Given the description of an element on the screen output the (x, y) to click on. 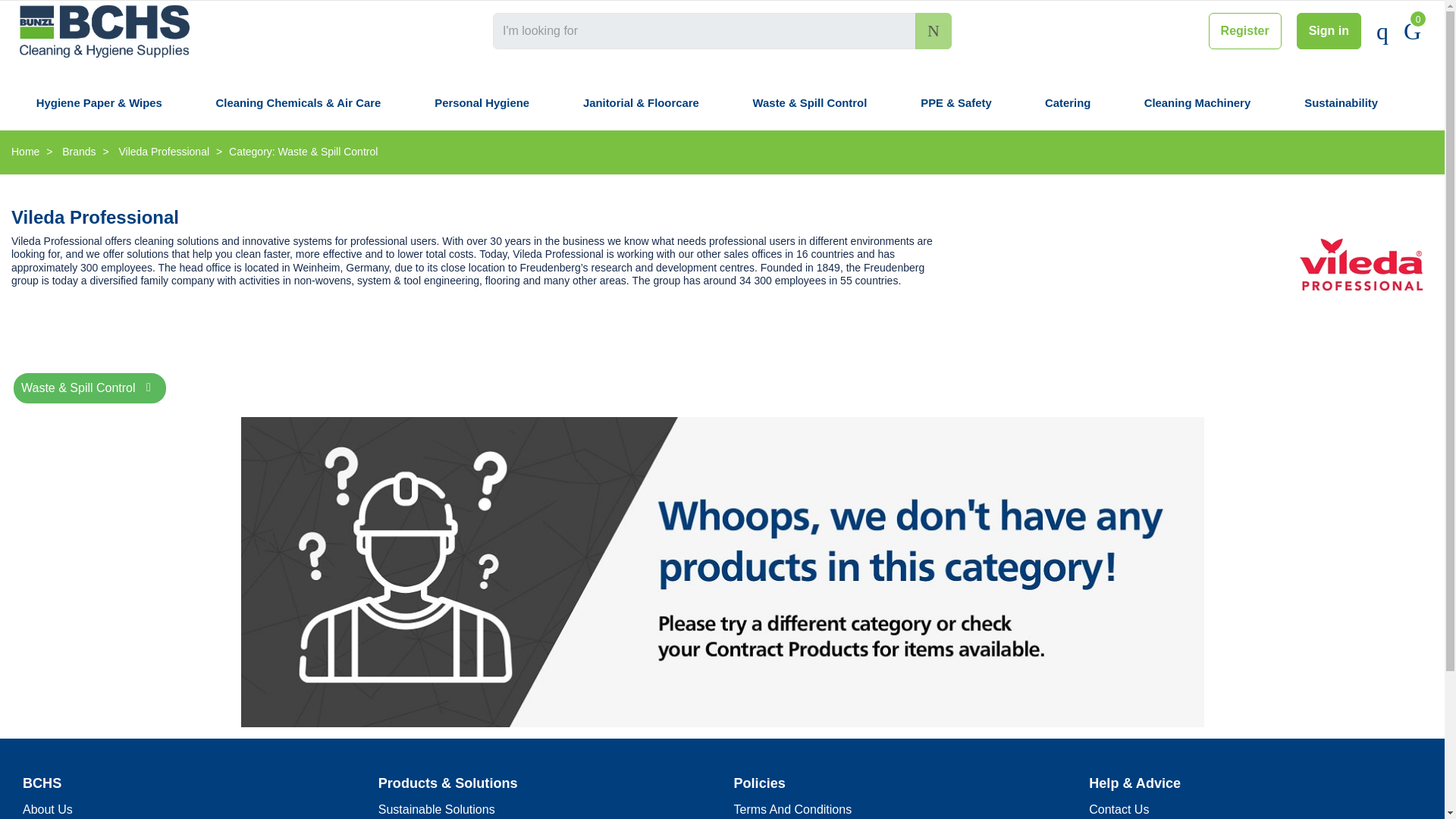
0 (1412, 30)
Register (1244, 31)
Sign in (1329, 31)
